Given the description of an element on the screen output the (x, y) to click on. 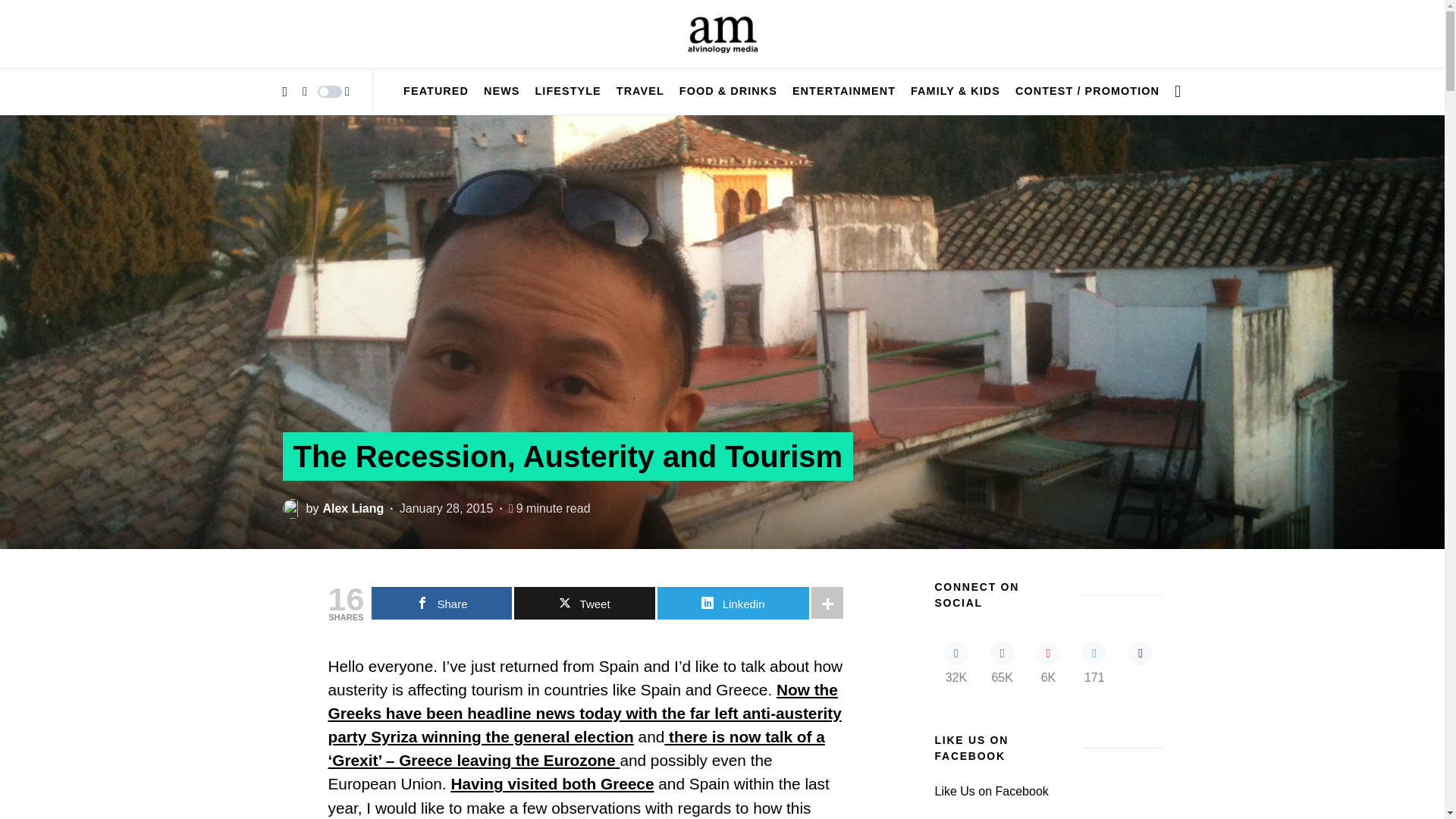
TRAVEL (639, 91)
LIFESTYLE (568, 91)
View all posts by Alex Liang (333, 508)
FEATURED (435, 91)
ENTERTAINMENT (843, 91)
